Given the description of an element on the screen output the (x, y) to click on. 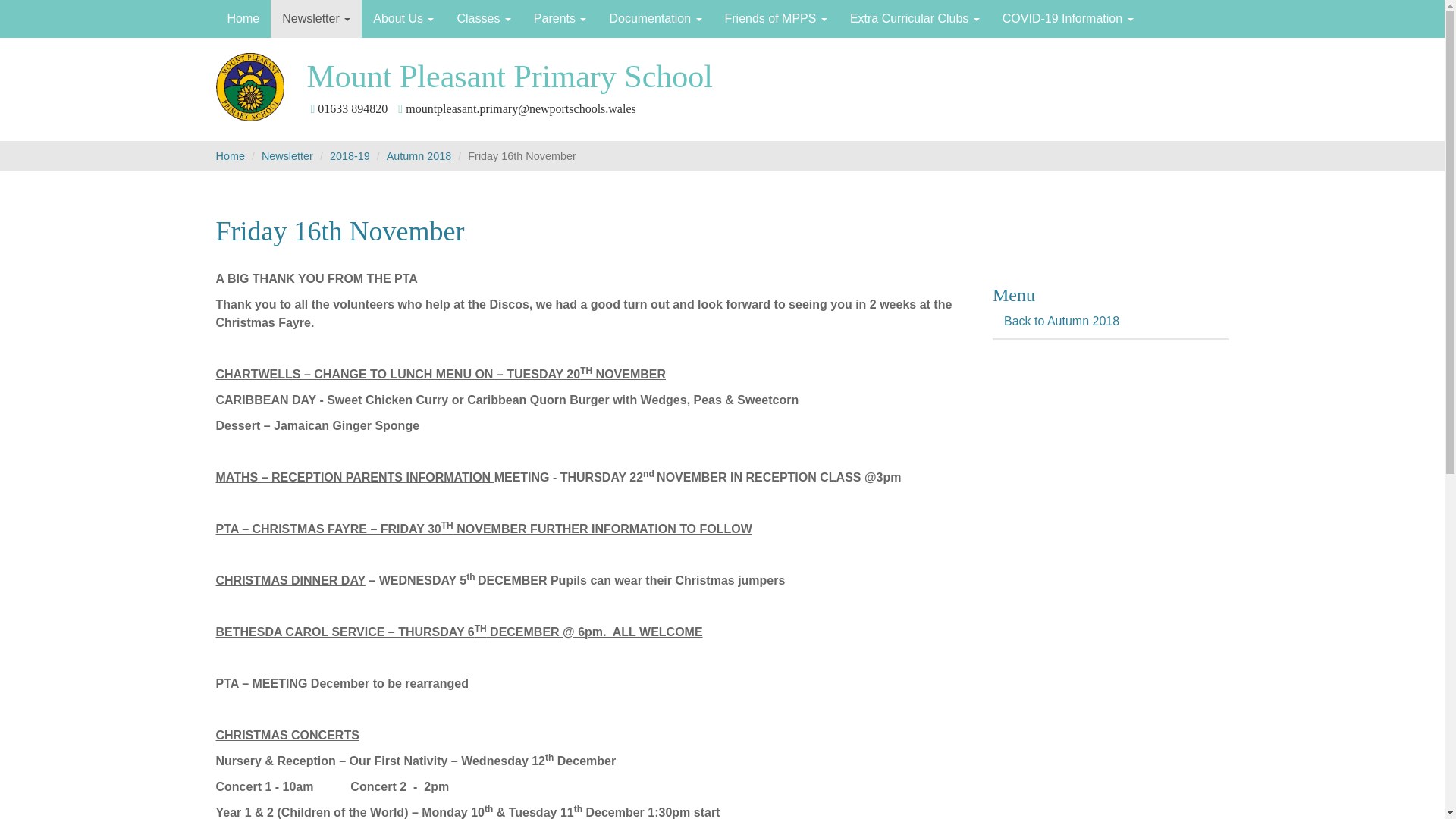
Newsletter (315, 18)
Home (242, 18)
Home (242, 18)
